Given the description of an element on the screen output the (x, y) to click on. 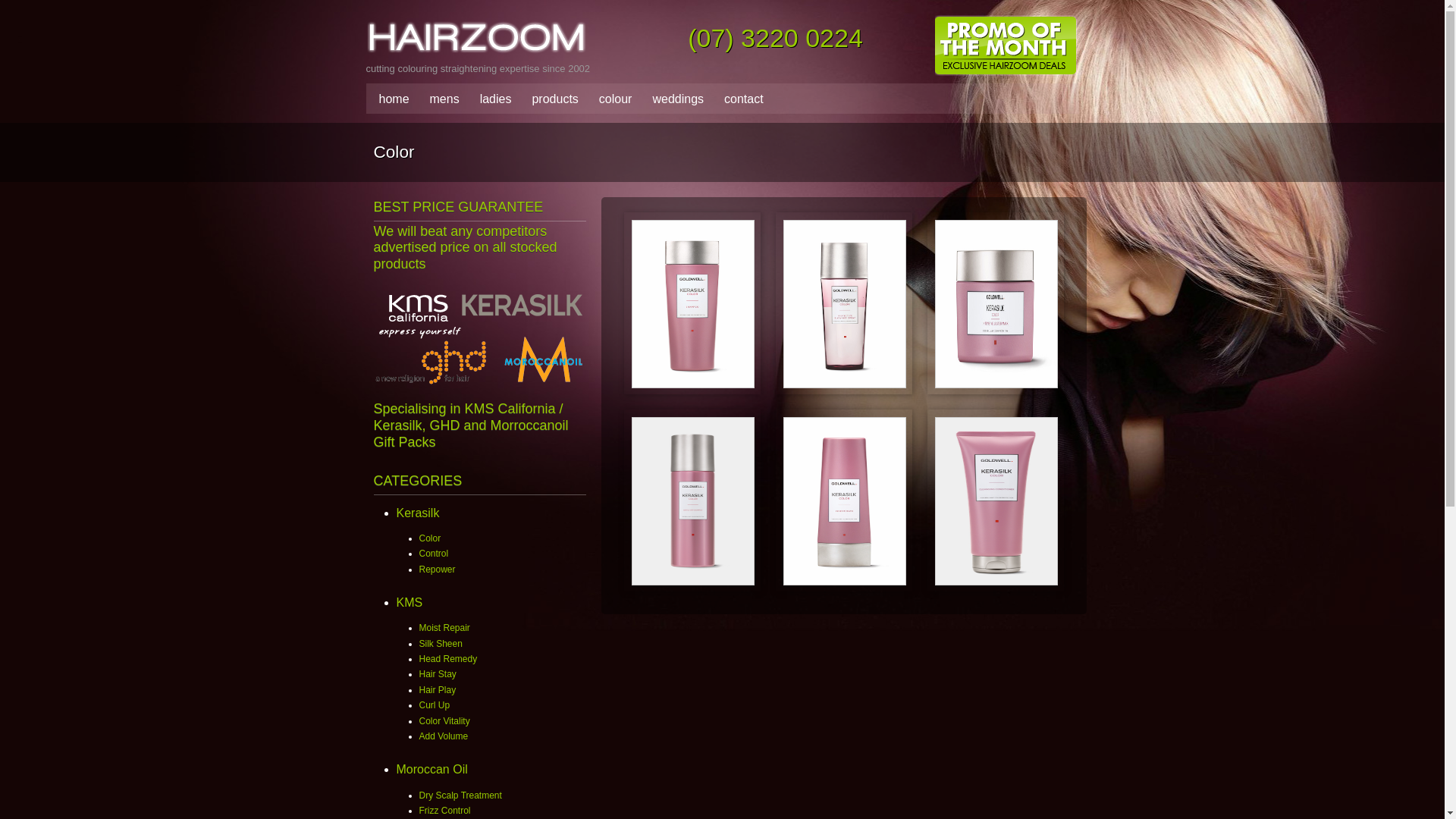
Frizz Control Element type: text (444, 810)
weddings Element type: text (674, 99)
Color Element type: text (429, 538)
Repower Element type: text (436, 569)
products Element type: text (550, 99)
Dry Scalp Treatment Element type: text (459, 795)
mens Element type: text (440, 99)
Hair Play Element type: text (436, 689)
Color Vitality Element type: text (443, 720)
Hairzoom | Brisbane Element type: text (570, 38)
home Element type: text (390, 99)
Moist Repair Element type: text (443, 627)
Control Element type: text (433, 553)
ladies Element type: text (491, 99)
contact Element type: text (740, 99)
Kerasilk Element type: text (417, 512)
Add Volume Element type: text (442, 736)
Silk Sheen Element type: text (439, 643)
Head Remedy Element type: text (447, 658)
Moroccan Oil Element type: text (431, 768)
colour Element type: text (611, 99)
Hair Stay Element type: text (436, 673)
KMS Element type: text (408, 602)
Curl Up Element type: text (433, 704)
